Given the description of an element on the screen output the (x, y) to click on. 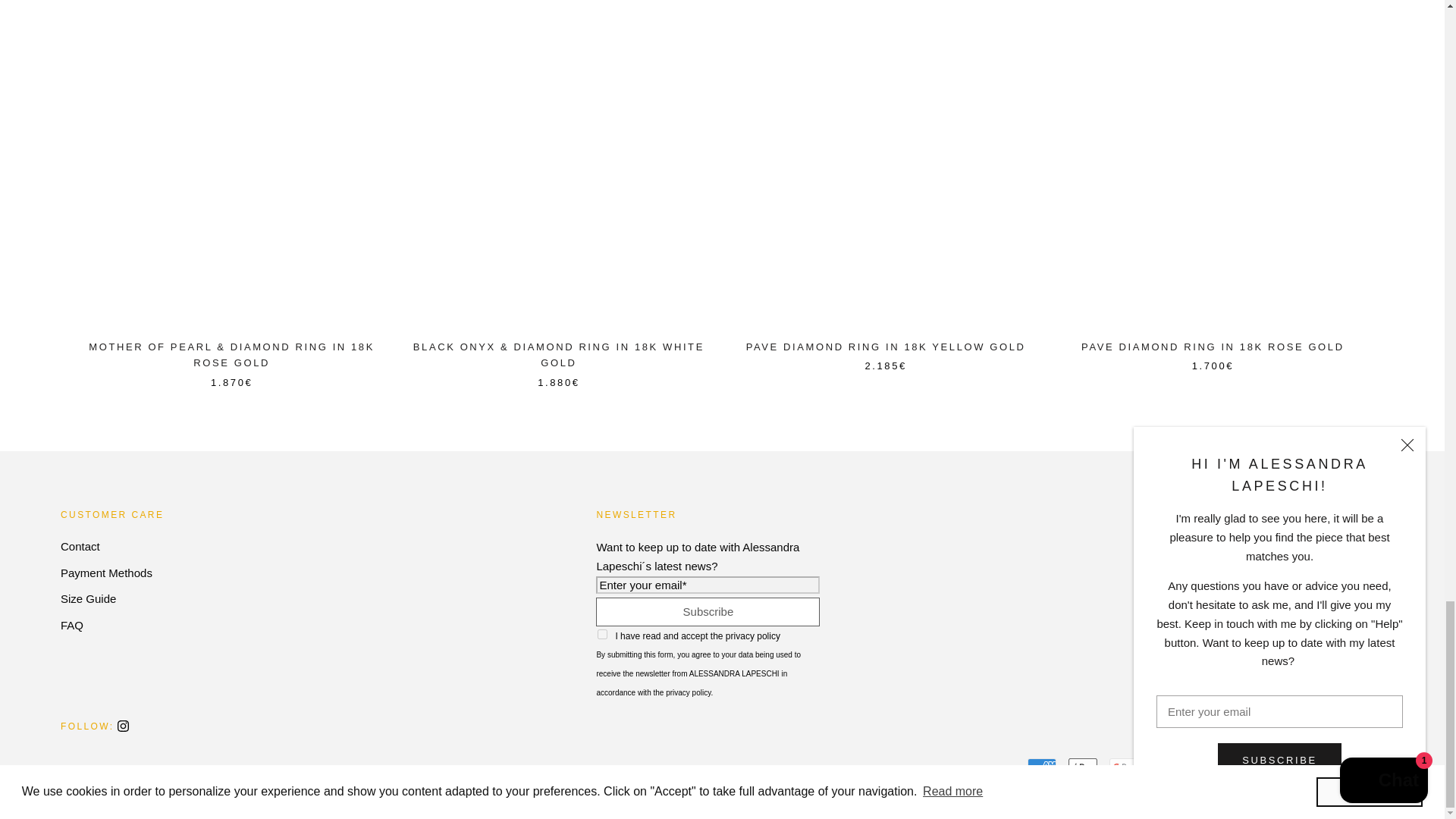
Y (601, 634)
Mastercard (1205, 767)
Apple Pay (1082, 767)
Maestro (1164, 767)
Shop Pay (1286, 767)
Visa (1369, 767)
PayPal (1245, 767)
American Express (1042, 767)
Google Pay (1123, 767)
Union Pay (1328, 767)
Subscribe (707, 611)
